Given the description of an element on the screen output the (x, y) to click on. 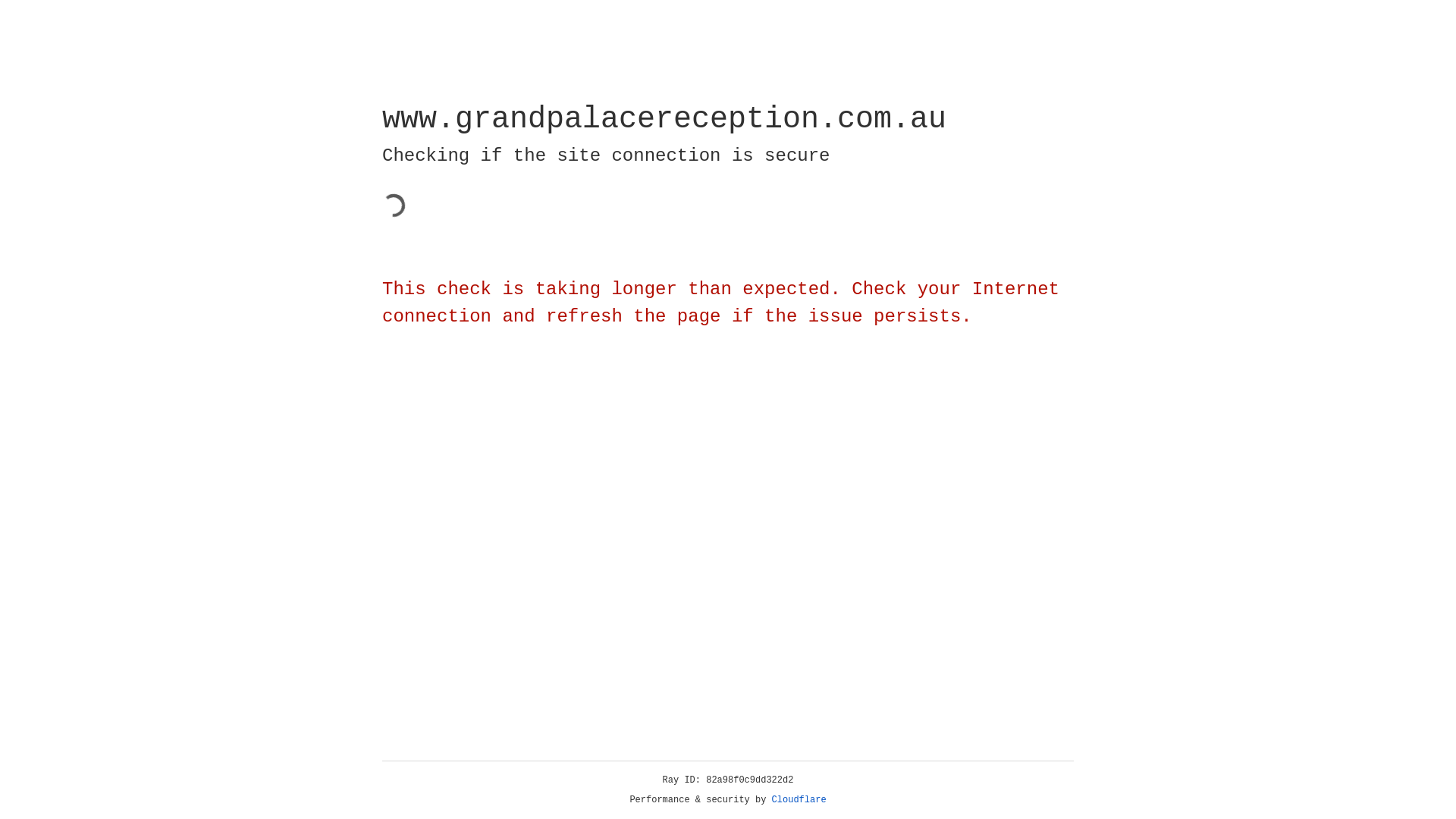
Cloudflare Element type: text (798, 799)
